Given the description of an element on the screen output the (x, y) to click on. 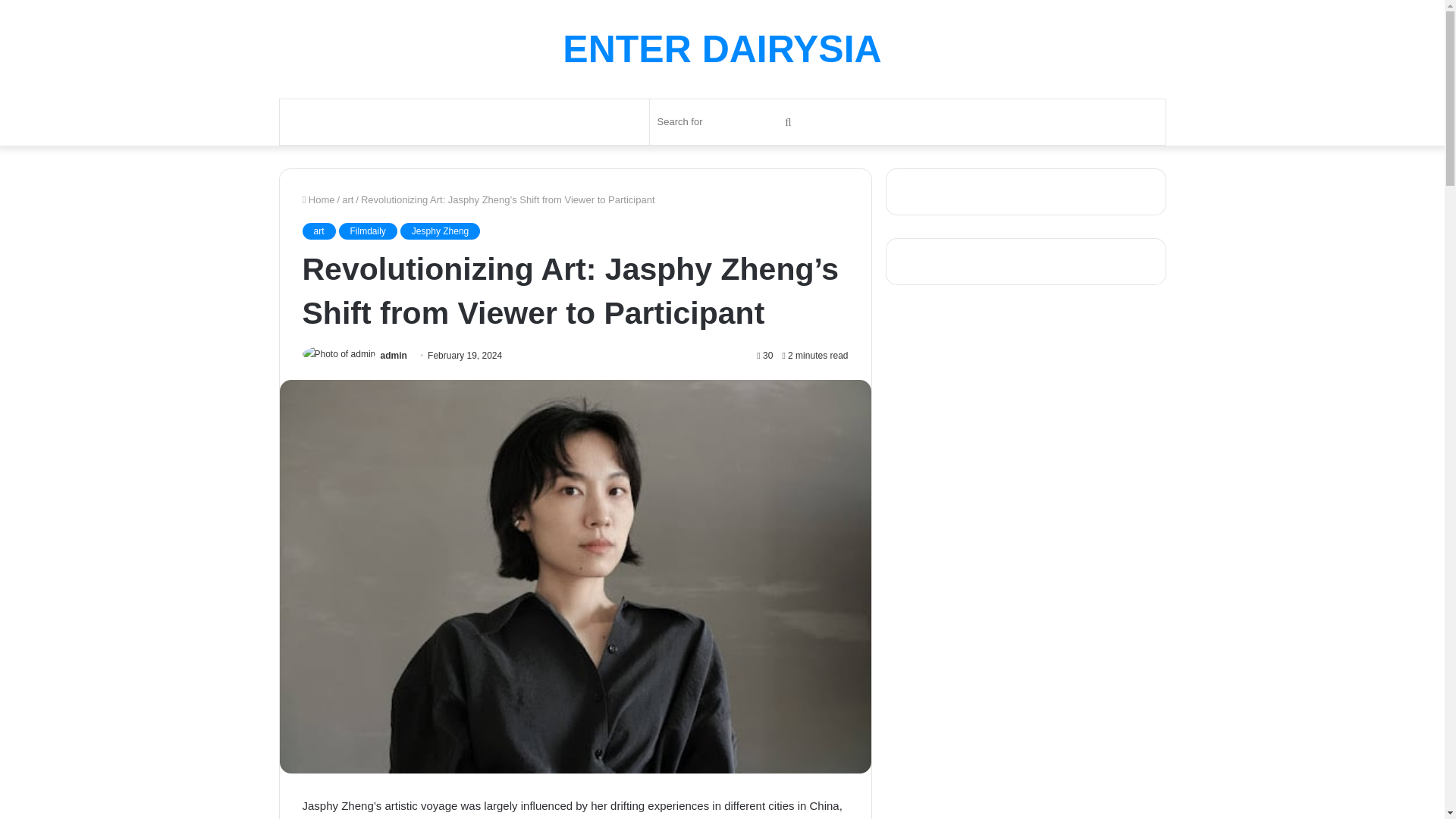
Search for (726, 121)
admin (393, 355)
Jesphy Zheng (440, 230)
art (347, 199)
admin (393, 355)
Filmdaily (368, 230)
ENTER DAIRYSIA (721, 48)
ENTER DAIRYSIA (721, 48)
art (317, 230)
Home (317, 199)
